Given the description of an element on the screen output the (x, y) to click on. 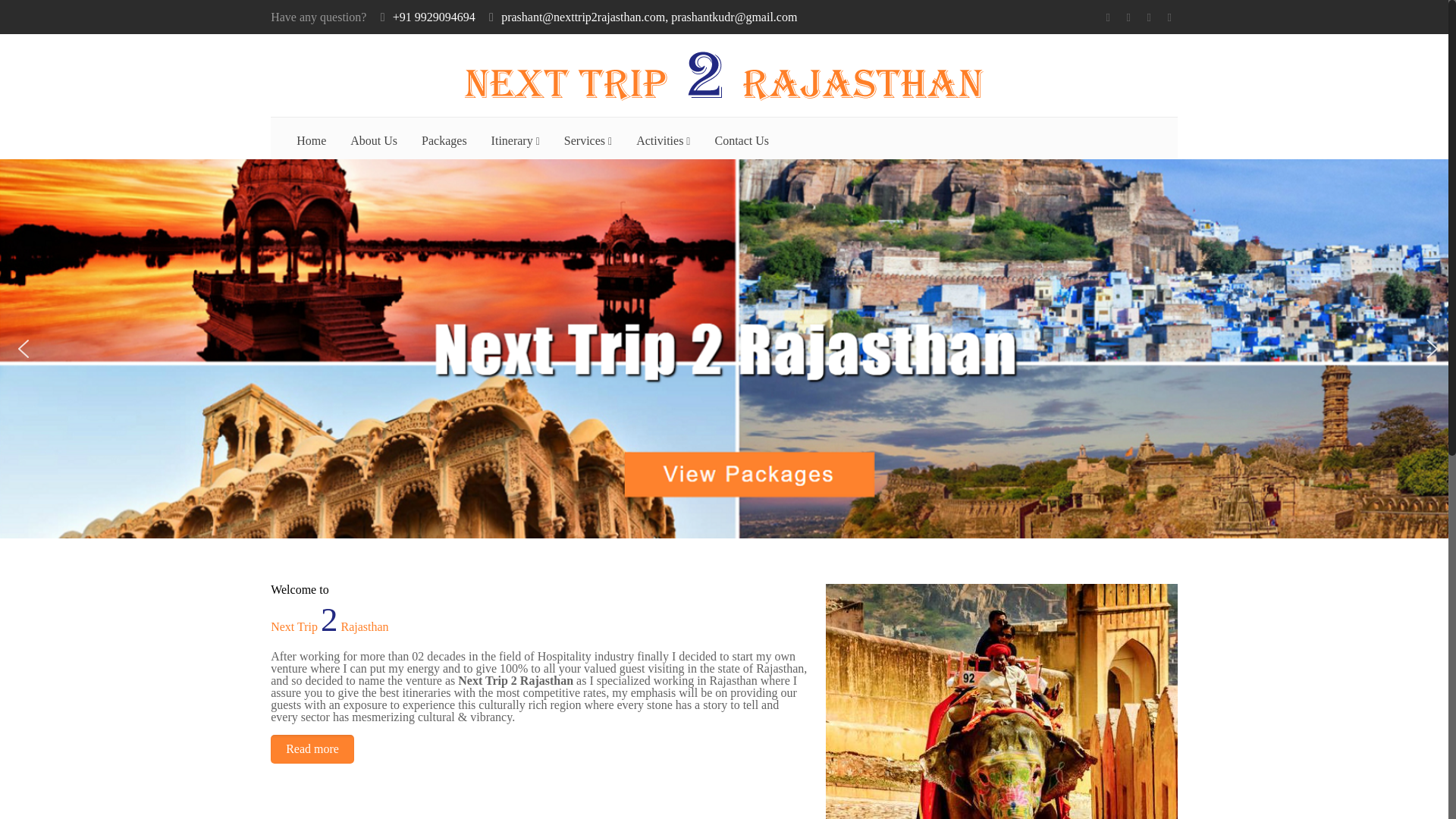
Read more (311, 748)
Services (588, 141)
Packages (443, 140)
Next Trip 2 Rajasthan (724, 75)
Facebook (1108, 17)
Itinerary (515, 141)
Pinterest (1149, 17)
Home (310, 141)
Twitter (1129, 17)
Instagram (1169, 17)
